Given the description of an element on the screen output the (x, y) to click on. 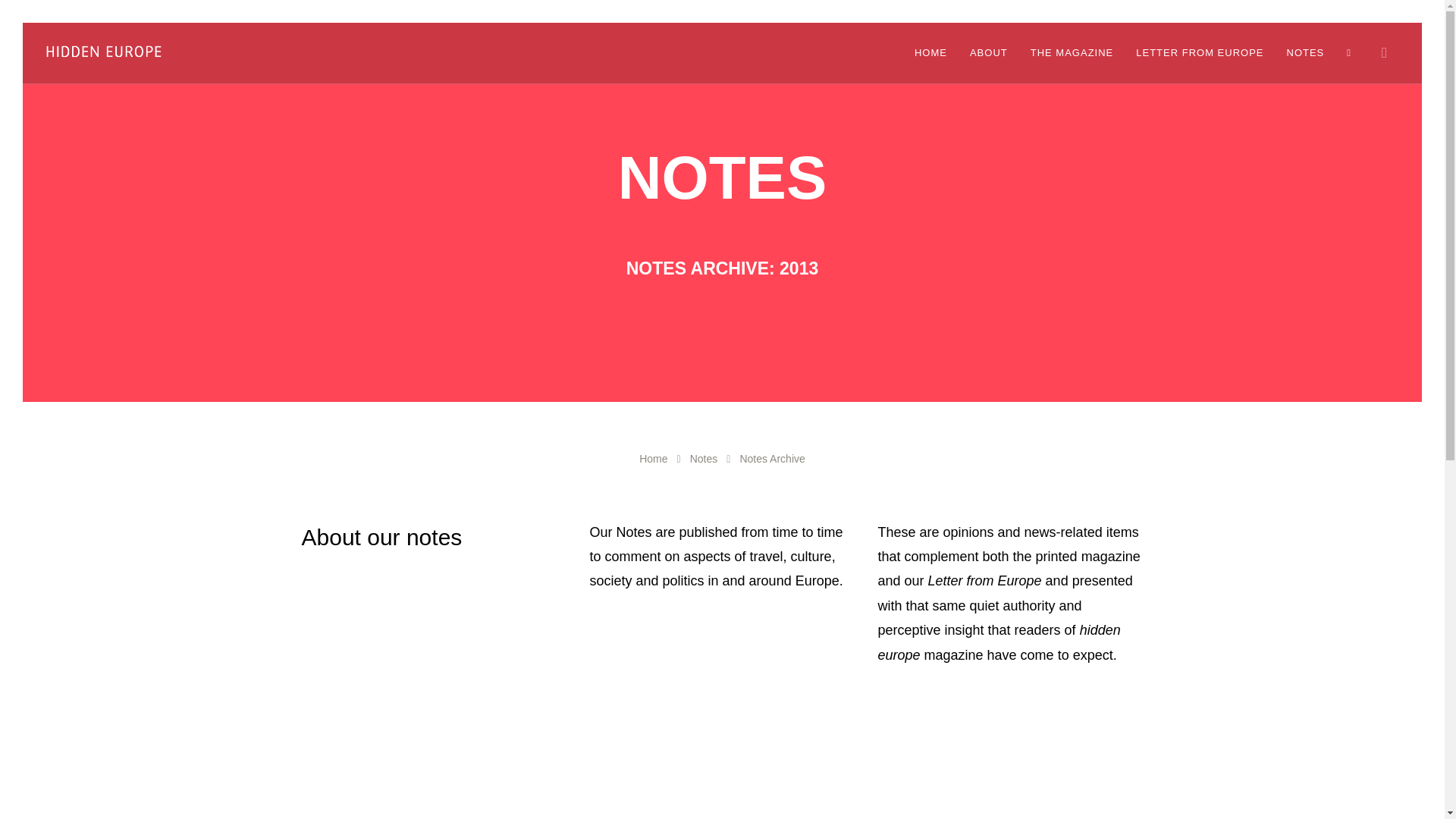
THE MAGAZINE (1071, 52)
Notes (703, 458)
LETTER FROM EUROPE (1199, 52)
Home (652, 458)
